Given the description of an element on the screen output the (x, y) to click on. 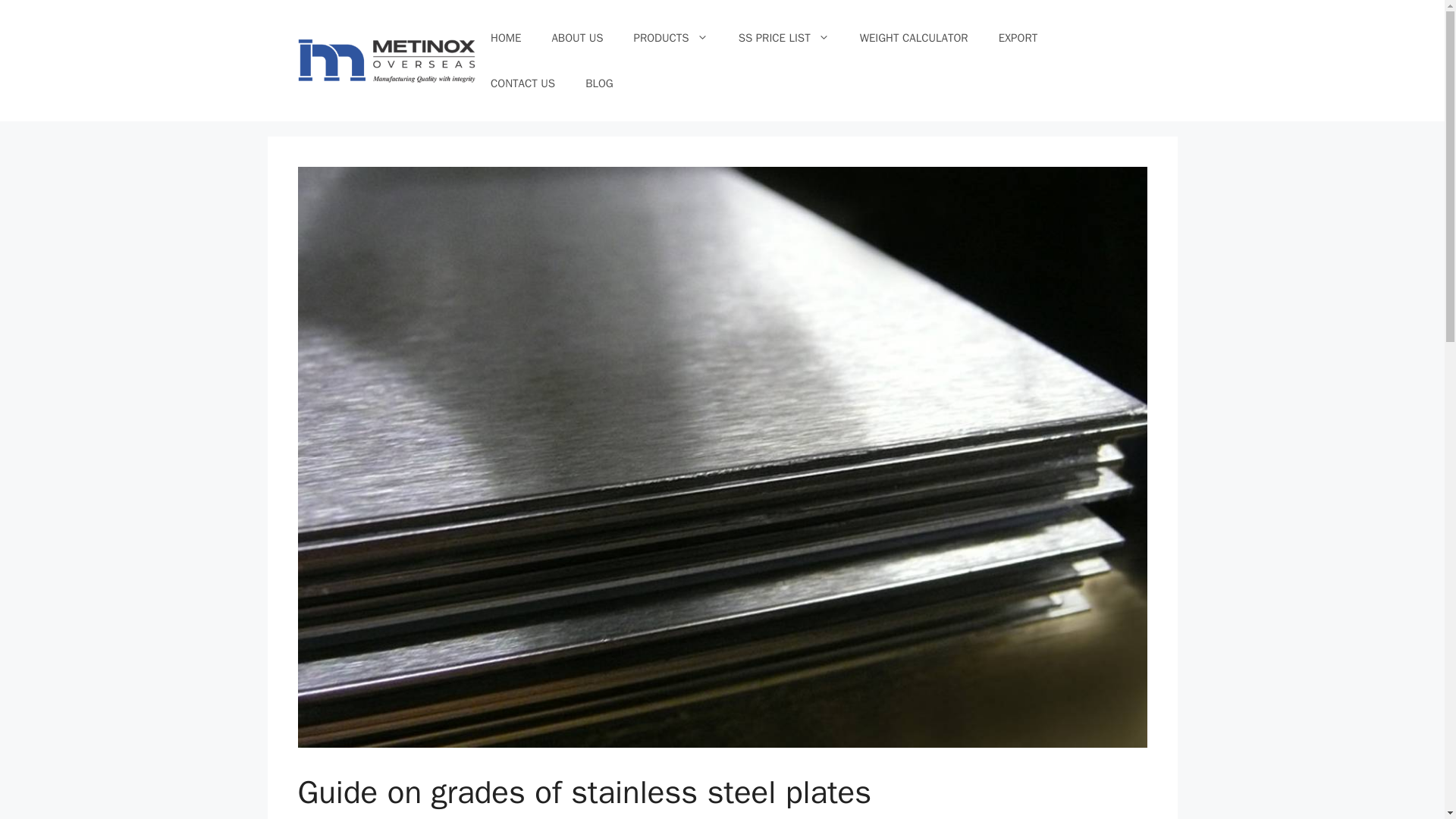
View all posts by Metinox Overseas (454, 818)
EXPORT (1018, 37)
Leading Steel Products Supplier in India (386, 60)
SS PRICE LIST (783, 37)
Metinox Overseas (454, 818)
CONTACT US (523, 83)
BLOG (599, 83)
HOME (505, 37)
PRODUCTS (670, 37)
WEIGHT CALCULATOR (914, 37)
